Given the description of an element on the screen output the (x, y) to click on. 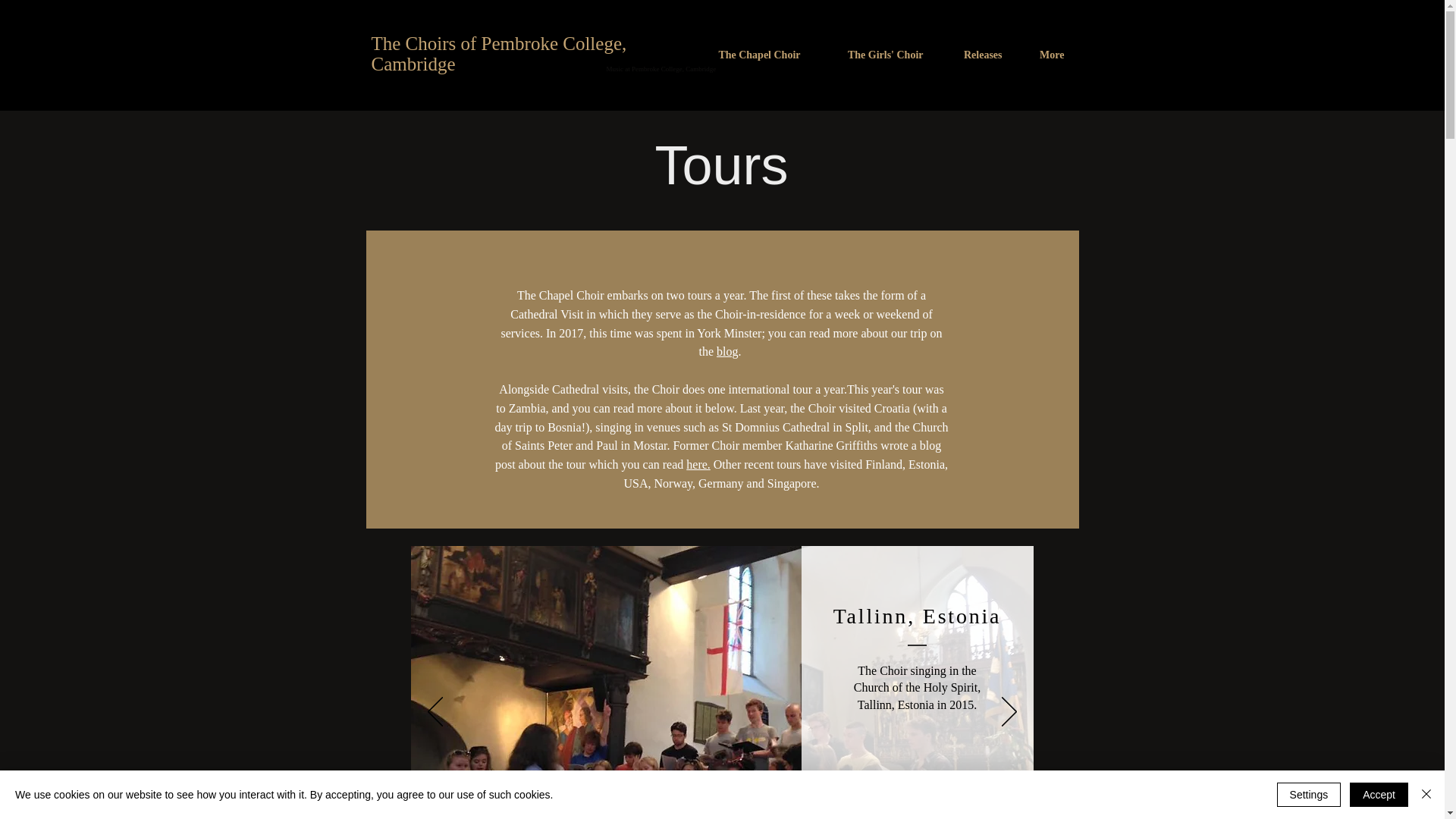
here. (697, 463)
The Girls' Choir (872, 54)
blog (727, 350)
Releases (973, 54)
The Choirs of Pembroke College, Cambridge (499, 53)
